Given the description of an element on the screen output the (x, y) to click on. 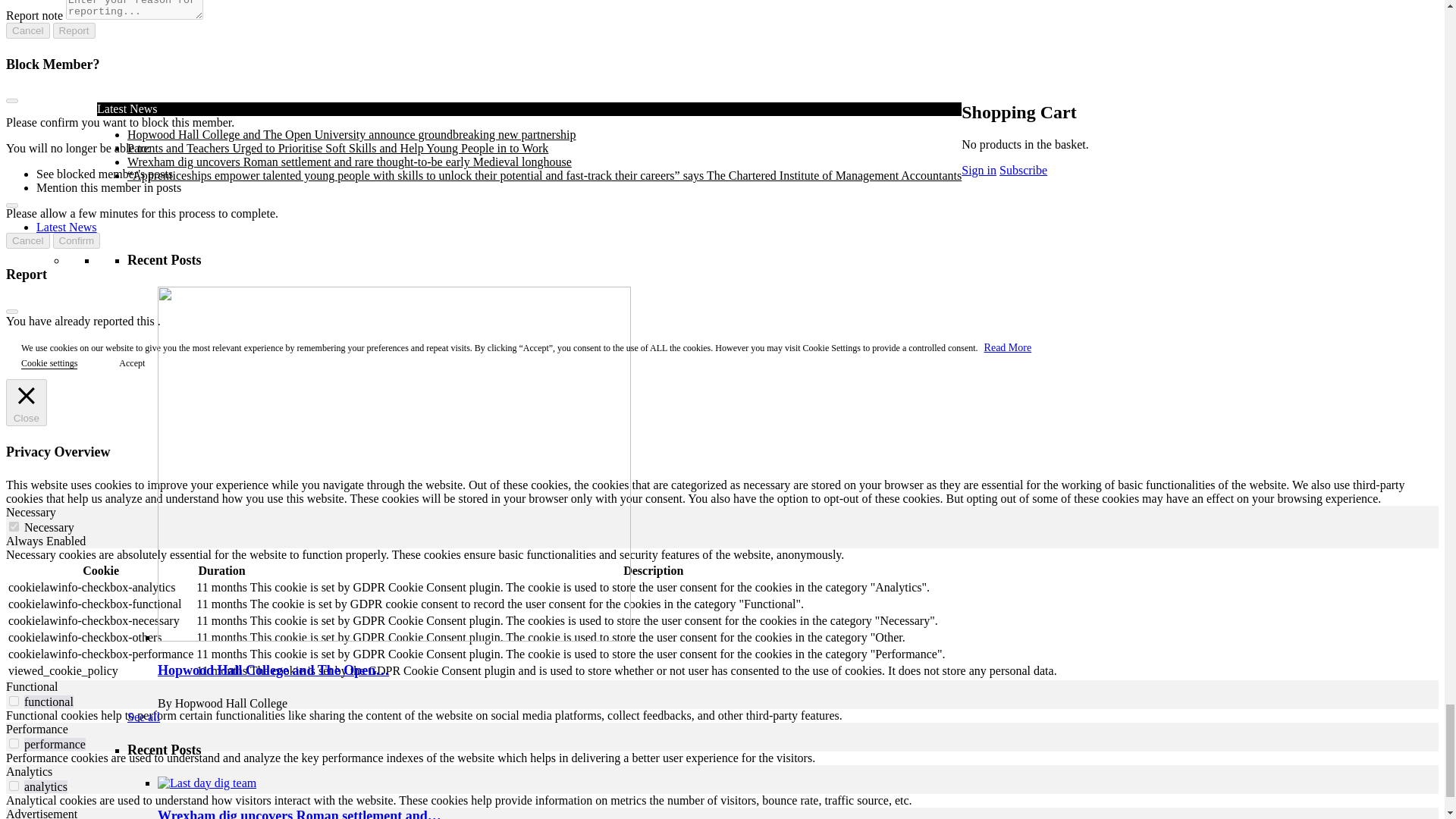
on (13, 743)
Cancel (27, 30)
Cancel (27, 240)
on (13, 526)
on (13, 786)
on (13, 700)
